Given the description of an element on the screen output the (x, y) to click on. 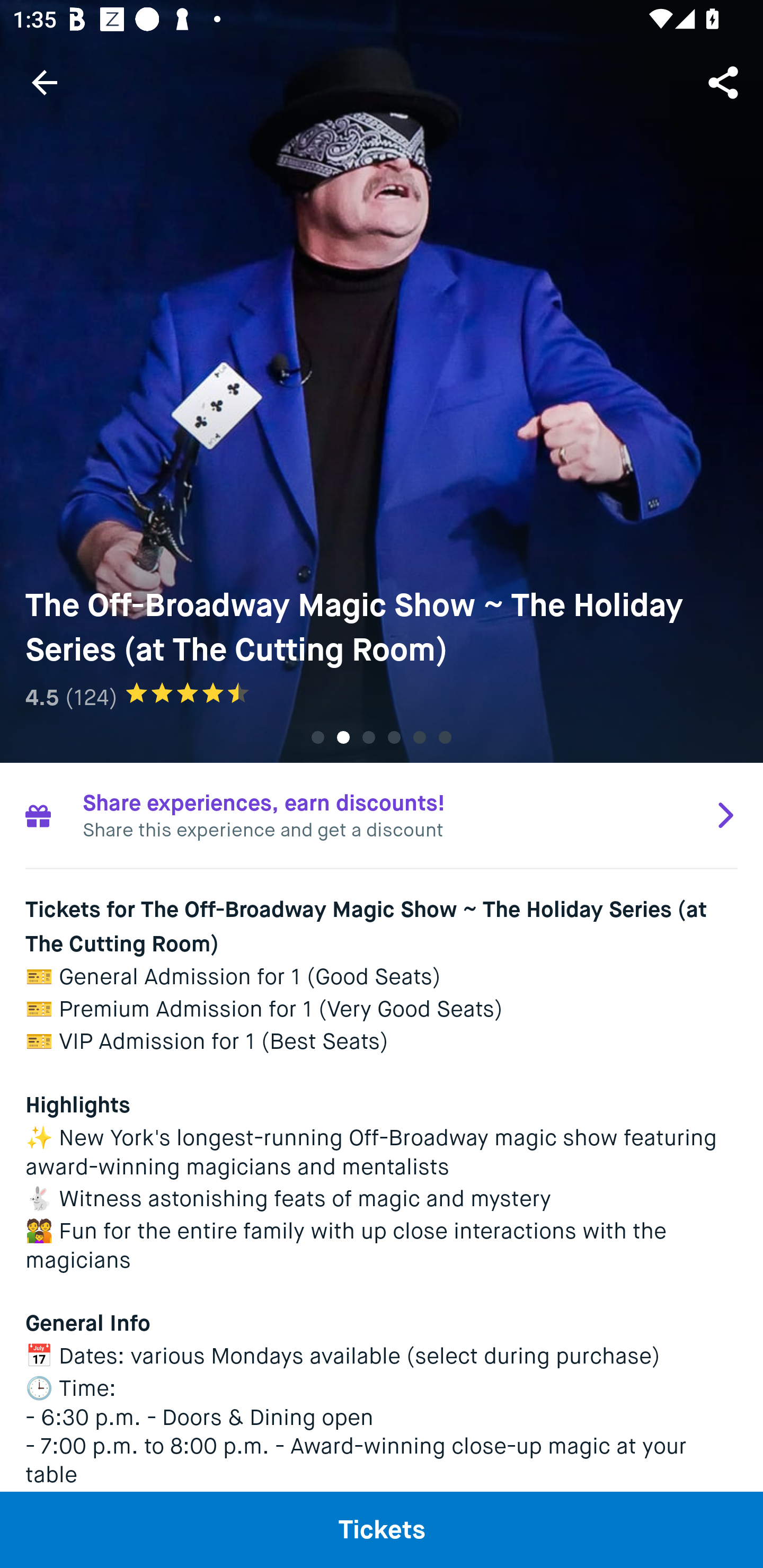
Navigate up (44, 82)
Share (724, 81)
(124) (90, 697)
Tickets (381, 1529)
